Given the description of an element on the screen output the (x, y) to click on. 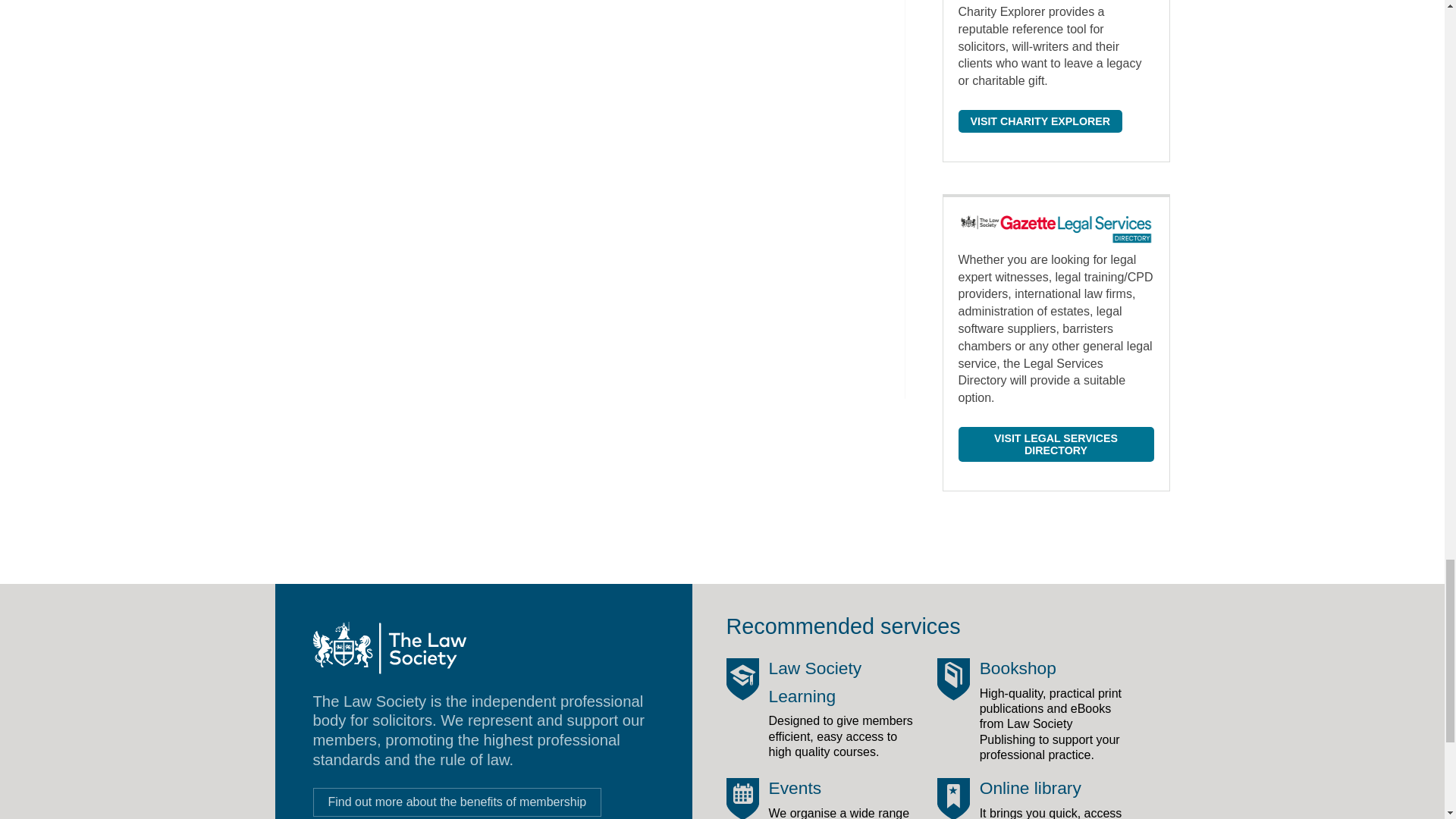
Learn more (457, 801)
